Given the description of an element on the screen output the (x, y) to click on. 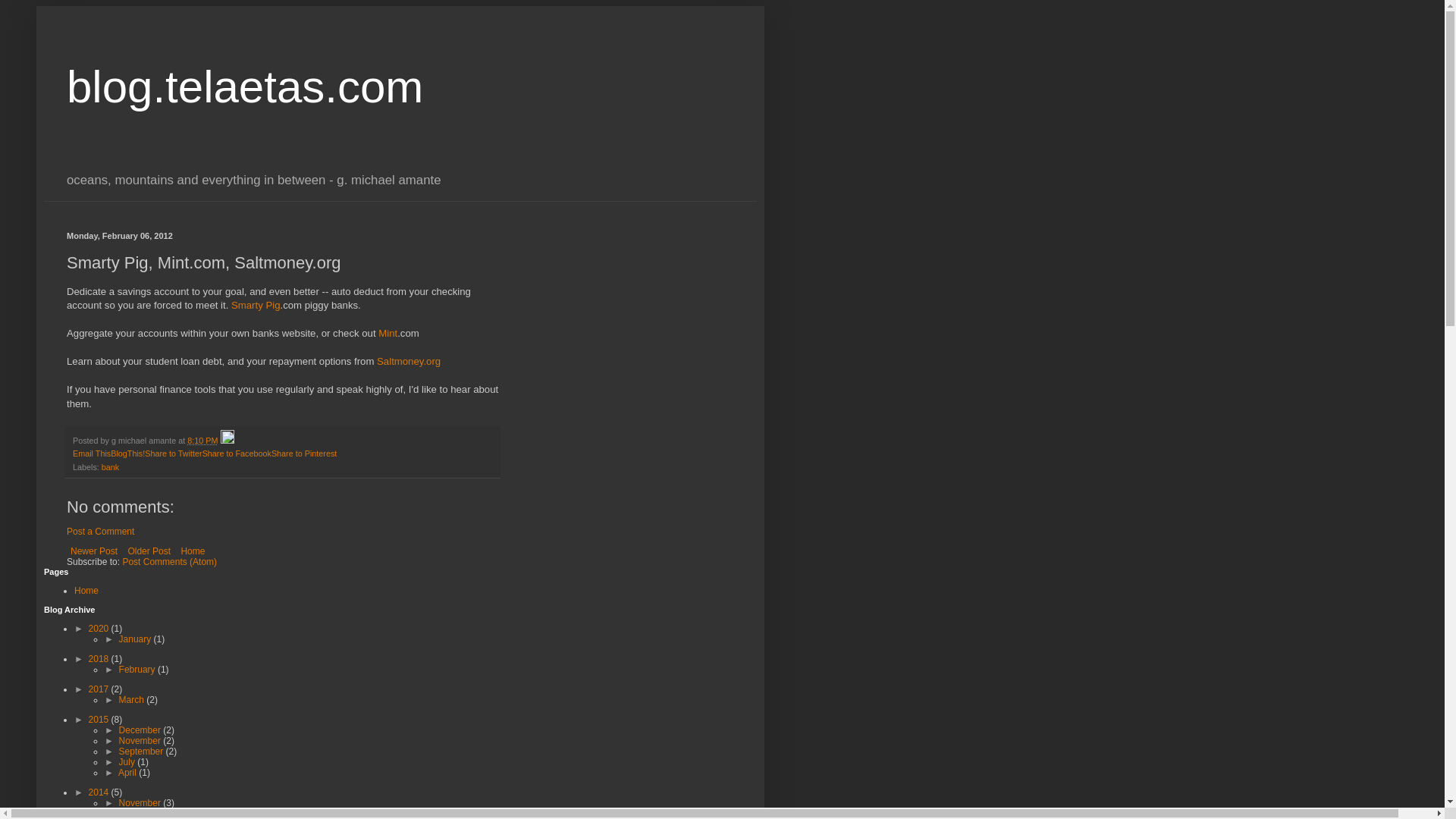
December (141, 729)
BlogThis! (127, 452)
2018 (100, 658)
Newer Post (93, 551)
permanent link (201, 440)
Share to Facebook (236, 452)
Edit Post (225, 440)
November (141, 740)
Share to Twitter (173, 452)
Home (192, 551)
February (138, 669)
2020 (100, 628)
Share to Pinterest (303, 452)
Older Post (148, 551)
8:10 PM (201, 440)
